Given the description of an element on the screen output the (x, y) to click on. 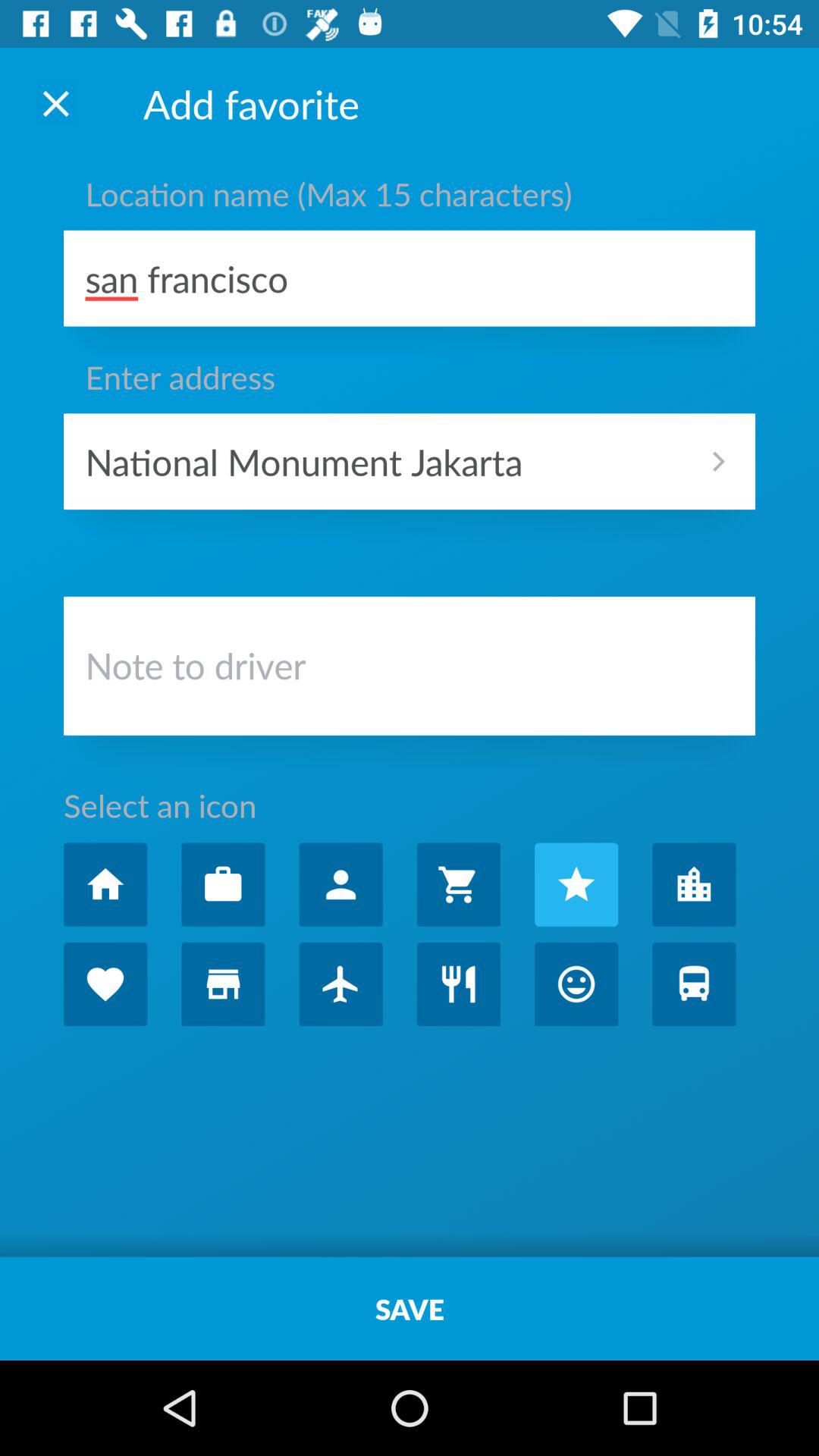
open plane icon (340, 984)
